Given the description of an element on the screen output the (x, y) to click on. 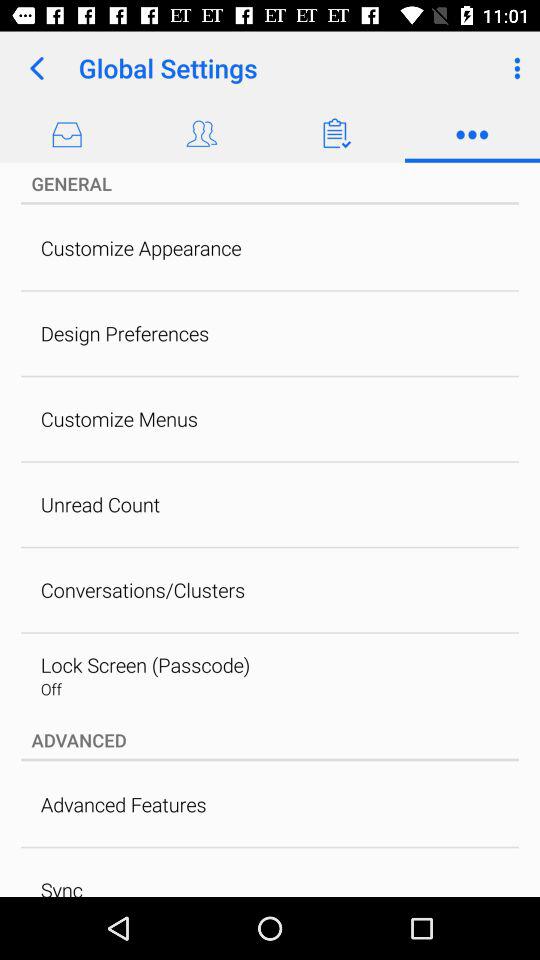
flip until advanced features item (123, 804)
